Given the description of an element on the screen output the (x, y) to click on. 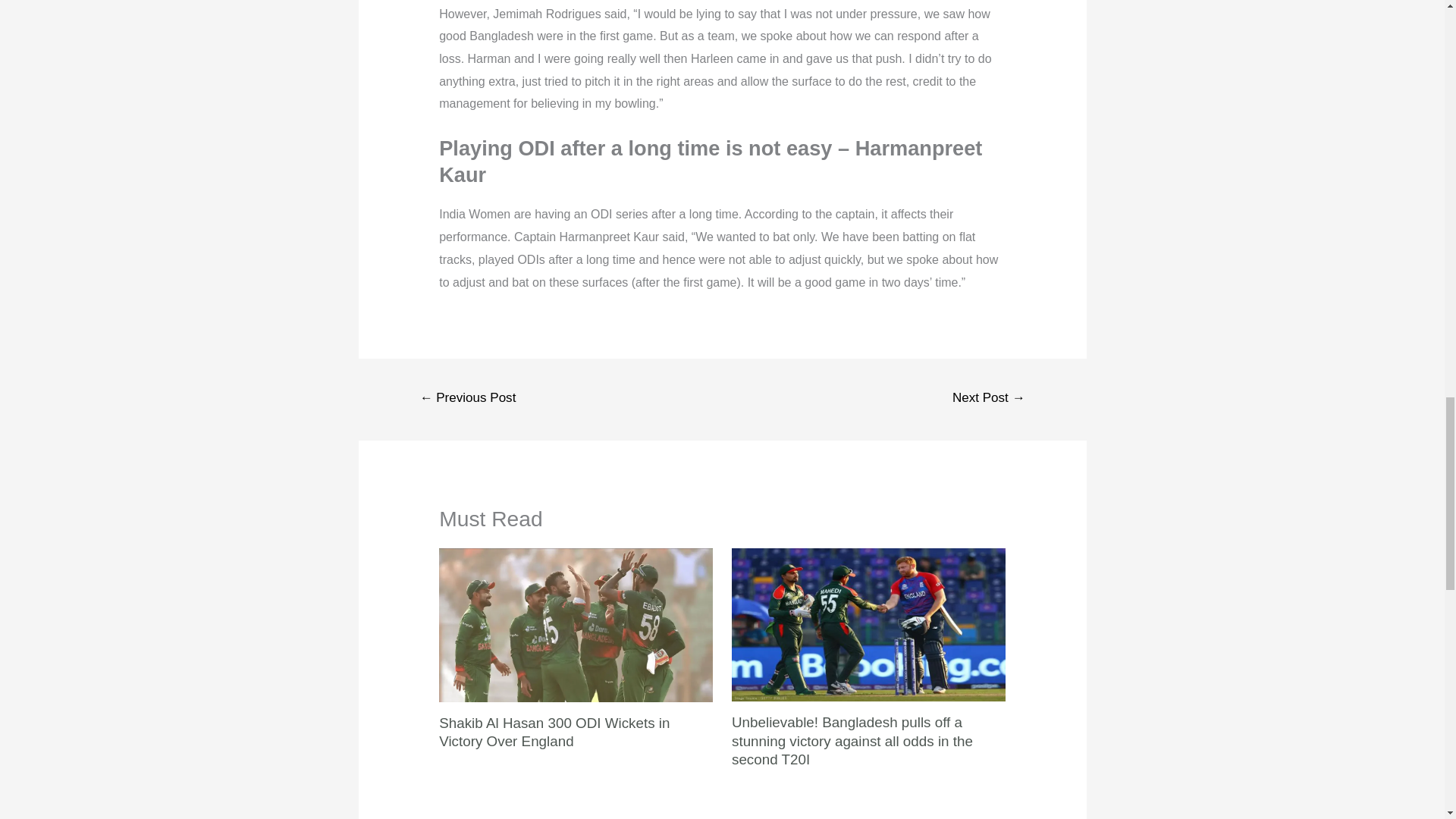
Shakib Al Hasan 300 ODI Wickets in Victory Over England (554, 731)
Shakib Al Hasan 300 ODI Wickets in Victory Over England 3 (576, 624)
